Given the description of an element on the screen output the (x, y) to click on. 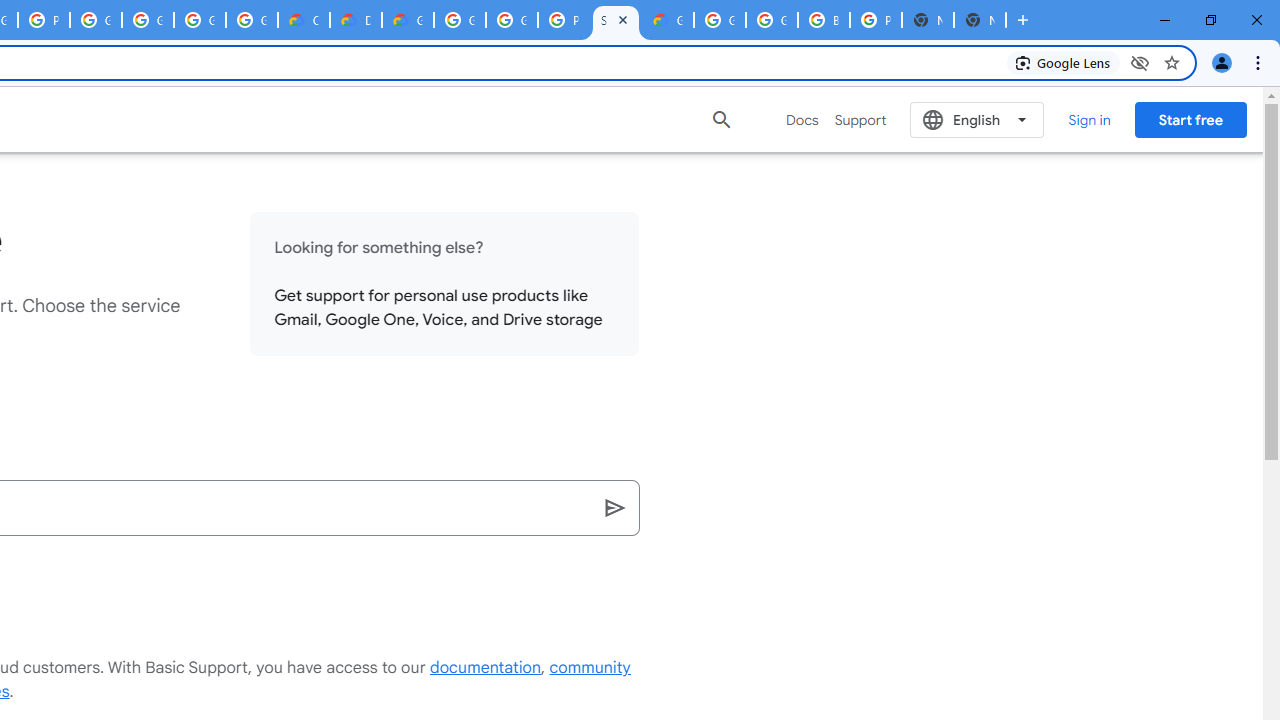
Gemini for Business and Developers | Google Cloud (407, 20)
Google Cloud Platform (511, 20)
Docs (802, 119)
Google Workspace - Specific Terms (200, 20)
Google Cloud Platform (771, 20)
Google Cloud Service Health (667, 20)
